Given the description of an element on the screen output the (x, y) to click on. 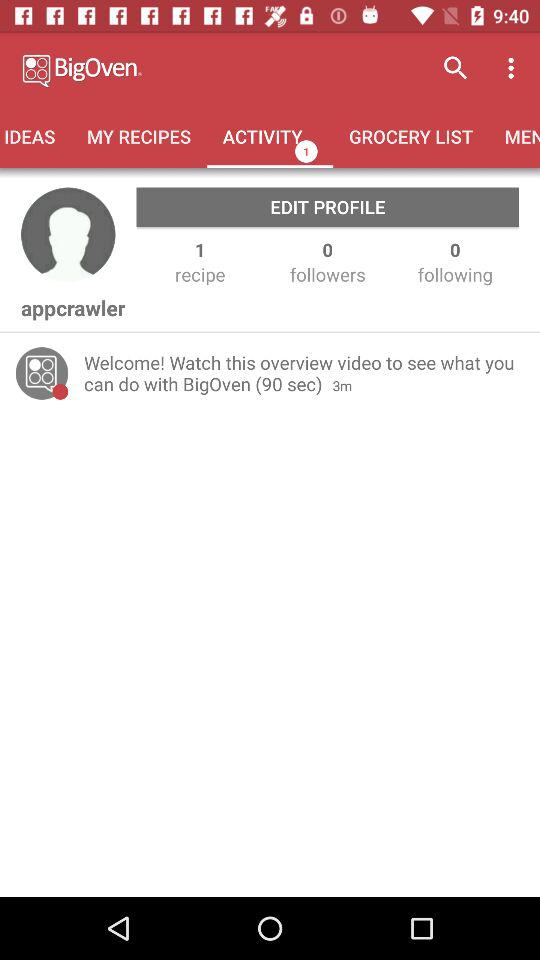
select bigoven with logo (166, 68)
the search icon of the page (456, 68)
select the icon above appcrawler (68, 235)
select the icon next to search icon (514, 68)
